Given the description of an element on the screen output the (x, y) to click on. 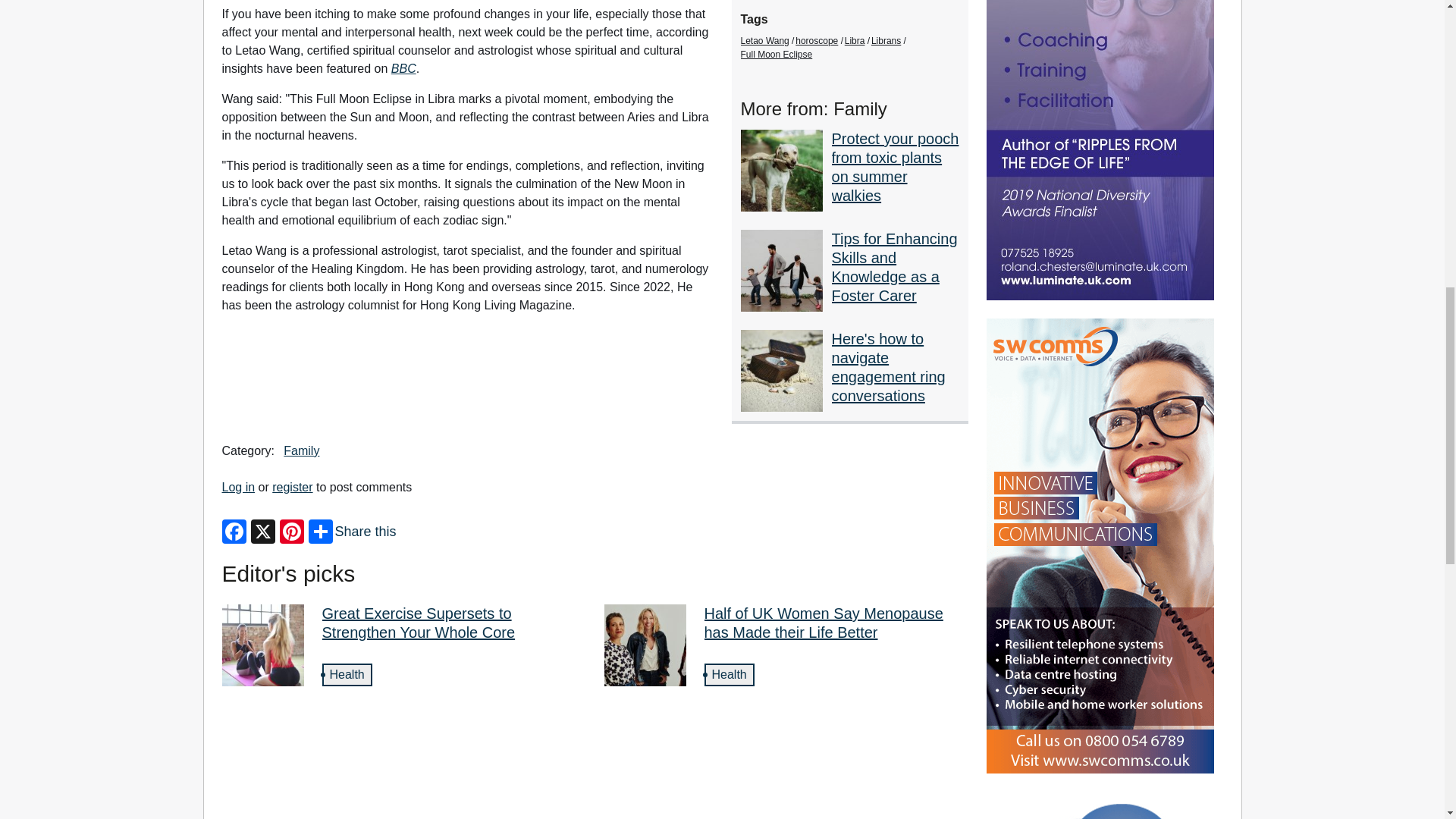
horoscope (816, 40)
Letao Wang (765, 40)
Librans (885, 40)
Libra (854, 40)
Full Moon Eclipse (776, 54)
Protect your pooch from toxic plants on summer walkies (895, 166)
BBC (403, 68)
